Given the description of an element on the screen output the (x, y) to click on. 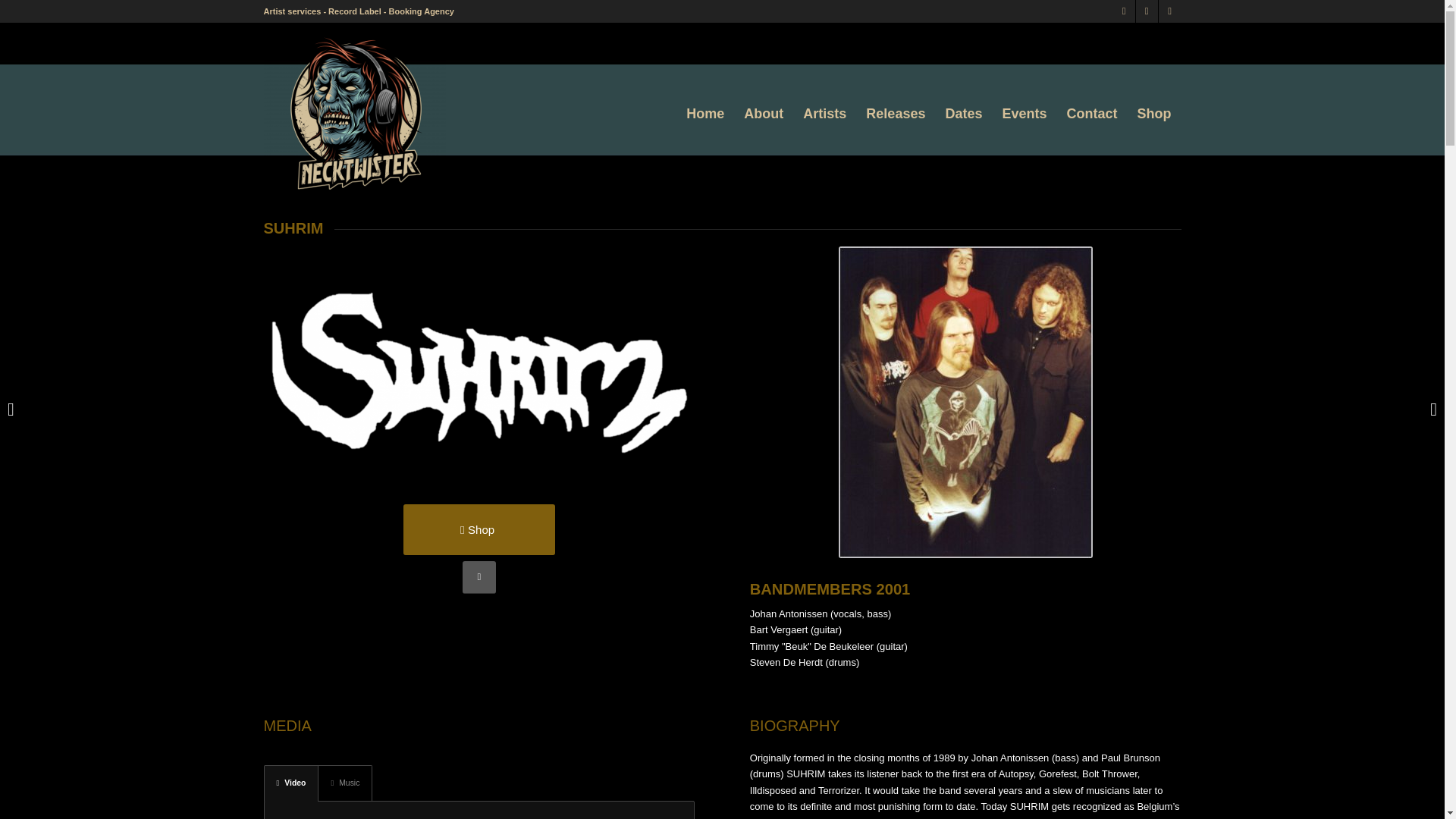
Twitter (1124, 11)
Instagram (1146, 11)
suhrimlogo (479, 370)
Facebook (1169, 11)
